Given the description of an element on the screen output the (x, y) to click on. 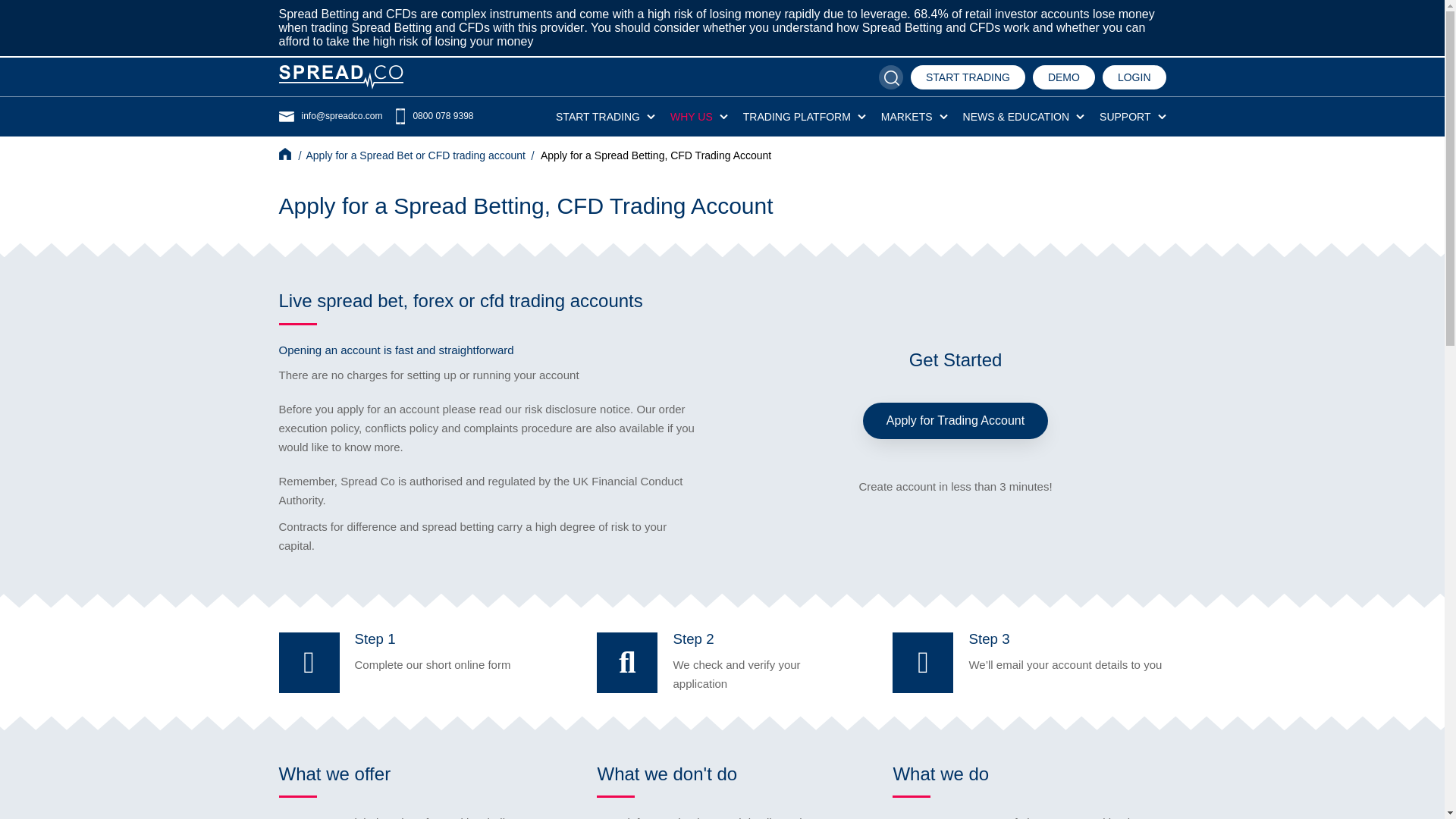
WHY US (691, 116)
LOGIN (1134, 77)
START TRADING (968, 77)
0800 078 9398 (431, 116)
START TRADING (598, 116)
DEMO (1063, 77)
